Given the description of an element on the screen output the (x, y) to click on. 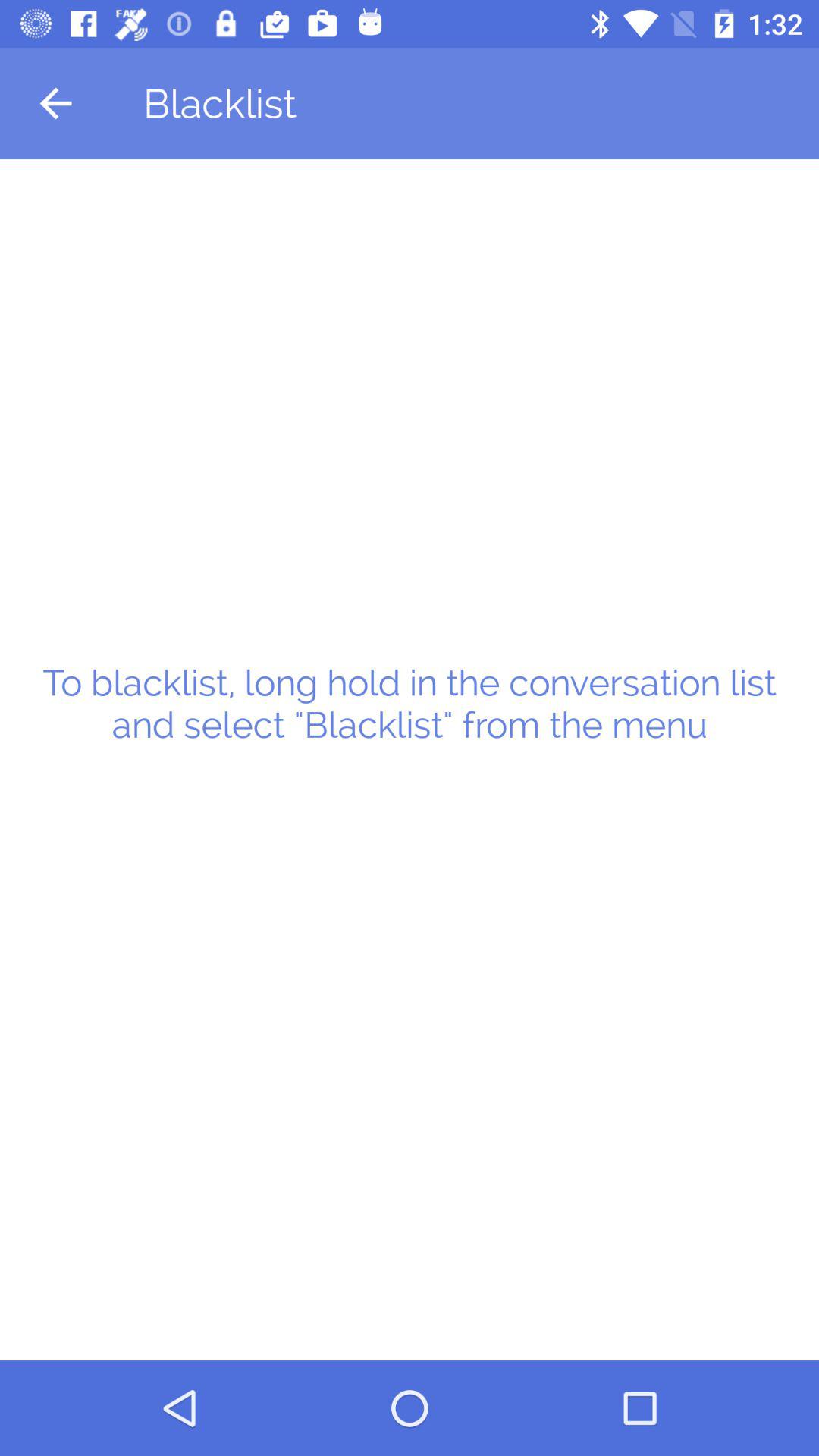
turn on the icon next to blacklist icon (55, 103)
